Given the description of an element on the screen output the (x, y) to click on. 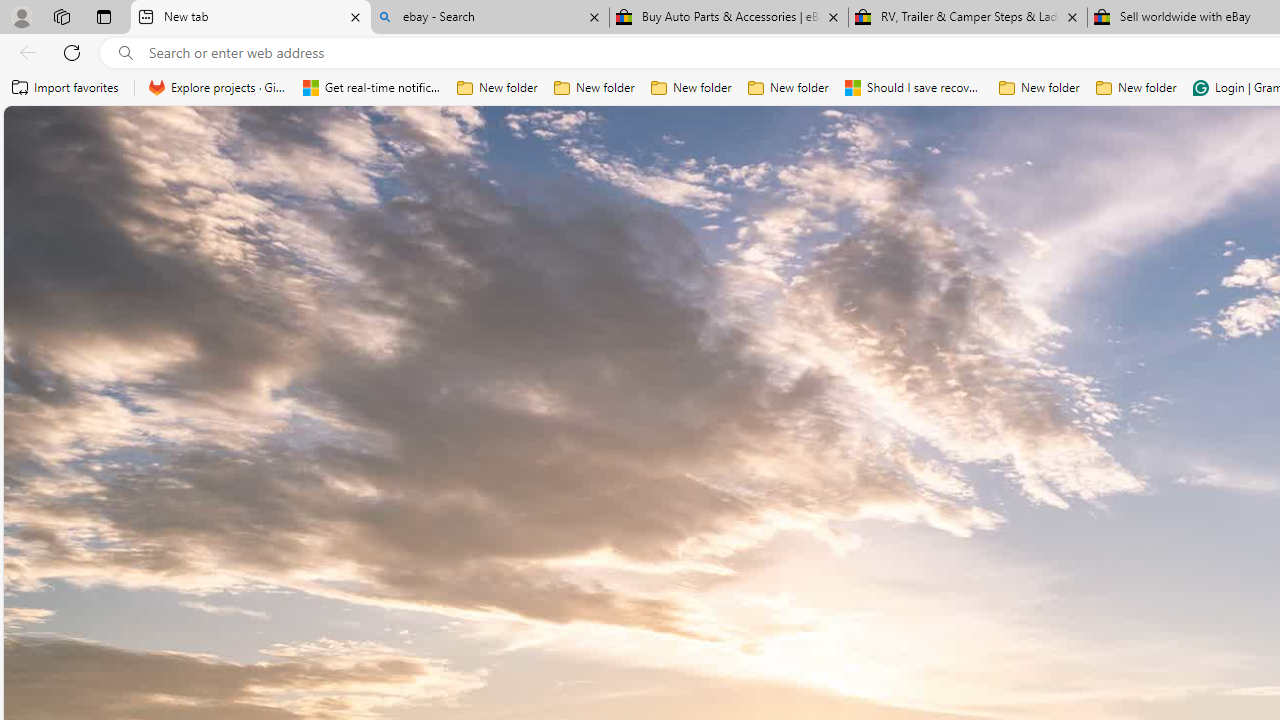
AutomationID: tab-17 (765, 576)
AutomationID: tab-26 (838, 576)
AutomationID: tab-25 (829, 576)
AutomationID: tab-19 (782, 576)
AutomationID: tab-22 (806, 576)
Should I save recovered Word documents? - Microsoft Support (913, 88)
App launcher (47, 138)
3 Like (1151, 574)
